Given the description of an element on the screen output the (x, y) to click on. 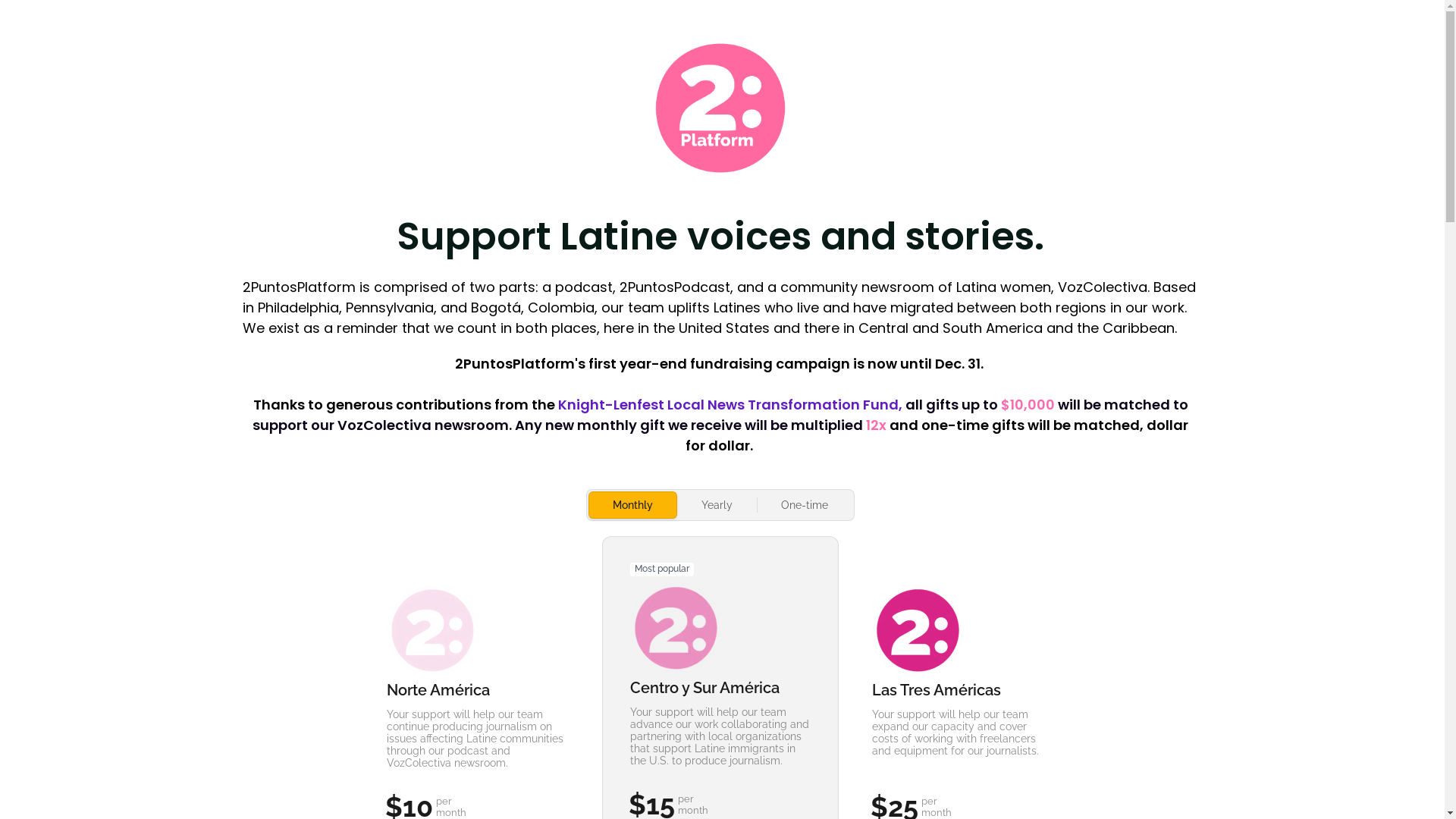
all gifts up to $10,000 will be matched Element type: text (1039, 403)
Knight-Lenfest Local News Transformation Fund, Element type: text (731, 403)
